Given the description of an element on the screen output the (x, y) to click on. 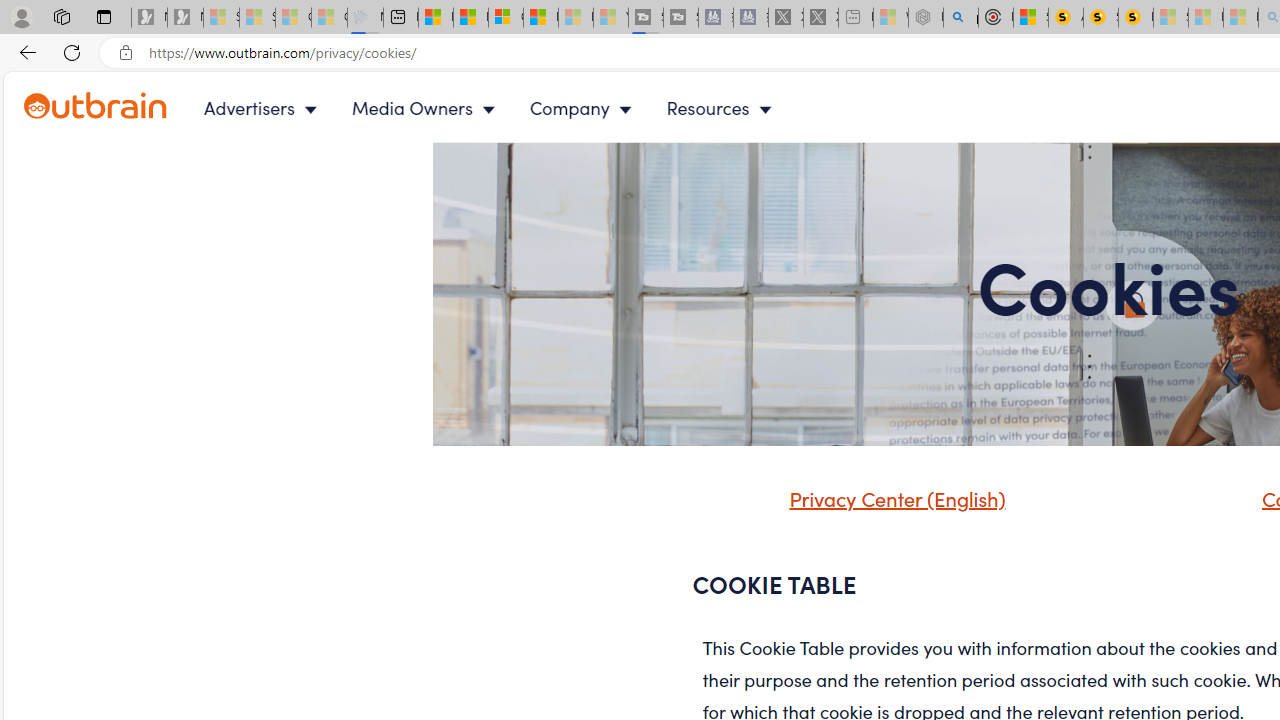
Privacy Center (English) (892, 497)
Wildlife - MSN - Sleeping (890, 17)
Main Navigation (504, 107)
Resources (723, 107)
Overview (506, 17)
Privacy Center (English) (872, 505)
Company (585, 107)
